Given the description of an element on the screen output the (x, y) to click on. 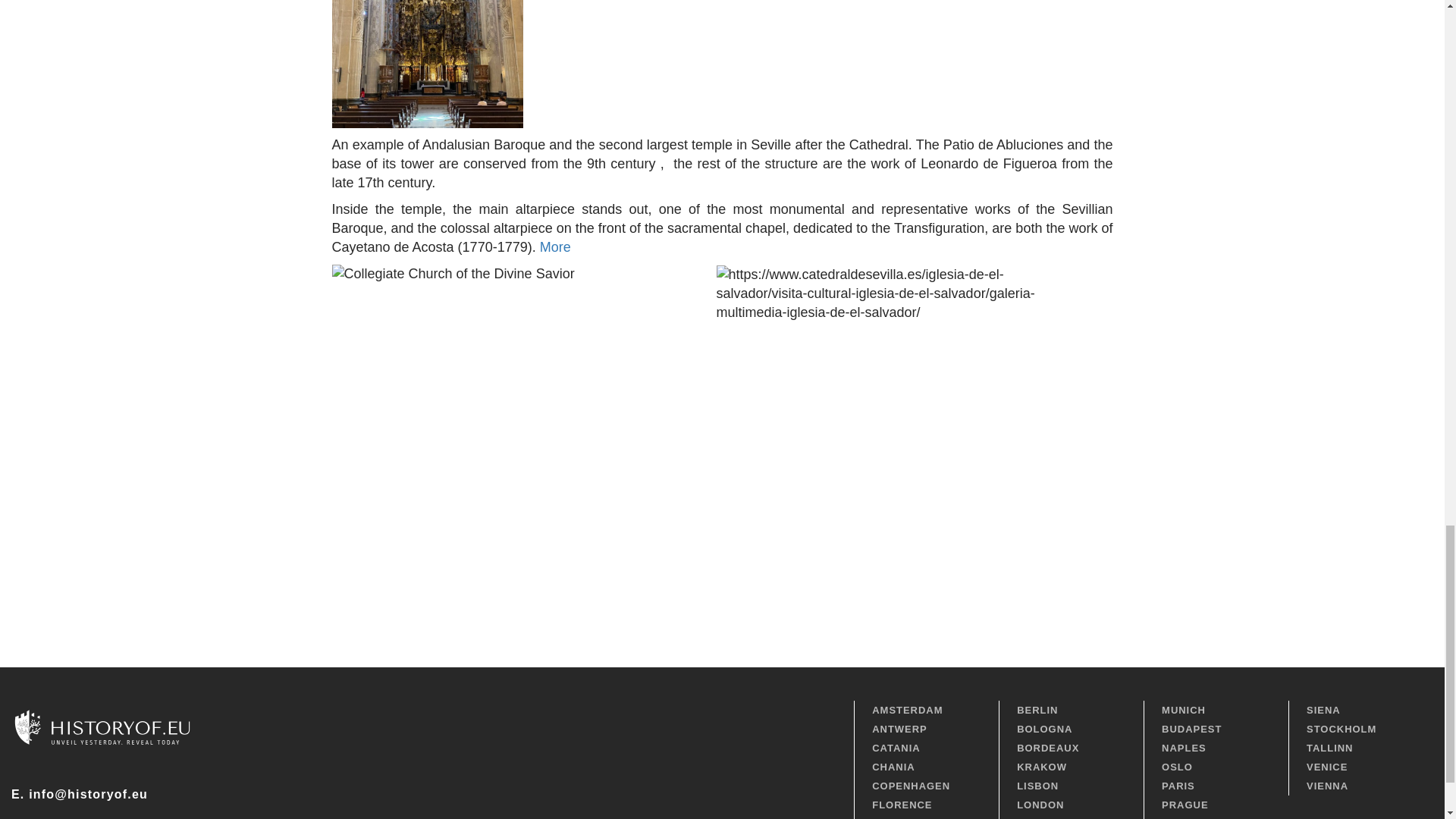
AMSTERDAM (925, 710)
OSLO (1215, 766)
BERLIN (1070, 710)
More (555, 246)
ANTWERP (925, 728)
NAPLES (1215, 747)
MUNICH (1215, 710)
BOLOGNA (1070, 728)
CHANIA (925, 766)
COPENHAGEN (925, 785)
LONDON (1070, 804)
BORDEAUX (1070, 747)
KRAKOW (1070, 766)
FLORENCE (925, 804)
CATANIA (925, 747)
